Given the description of an element on the screen output the (x, y) to click on. 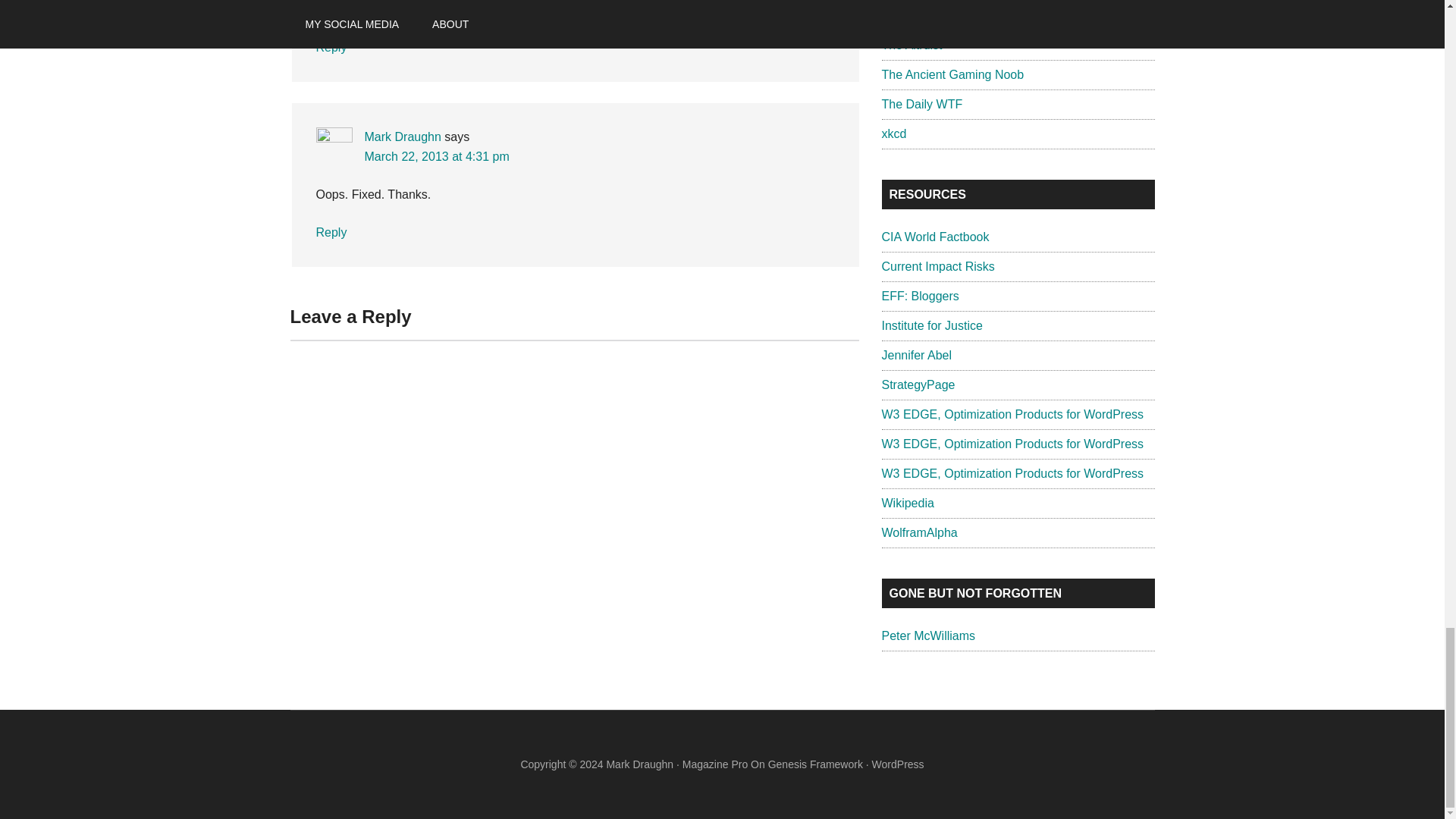
March 22, 2013 at 4:31 pm (436, 155)
Mark Draughn (402, 136)
Reply (330, 47)
Reply (330, 232)
